Given the description of an element on the screen output the (x, y) to click on. 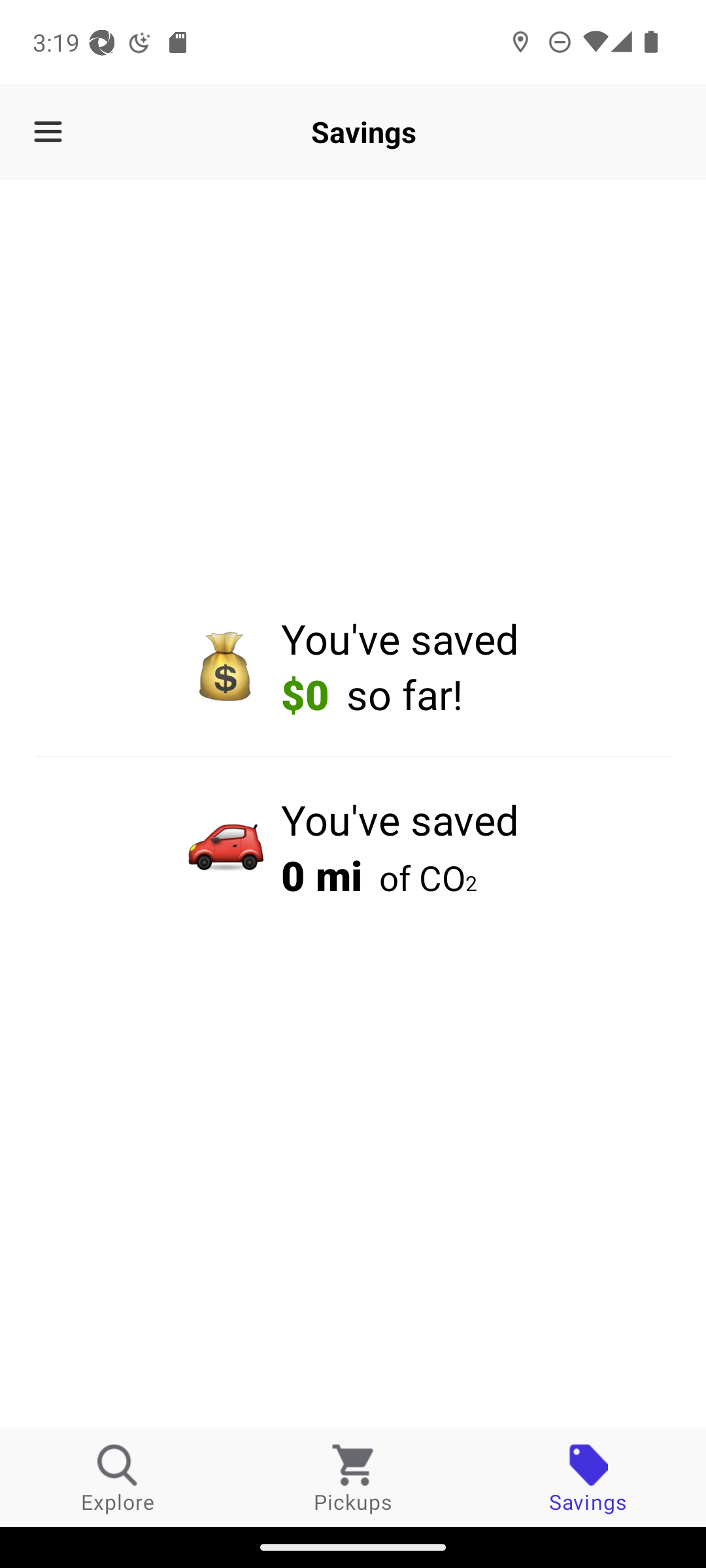
Navigate up (48, 131)
Explore (117, 1478)
Pickups (352, 1478)
